Given the description of an element on the screen output the (x, y) to click on. 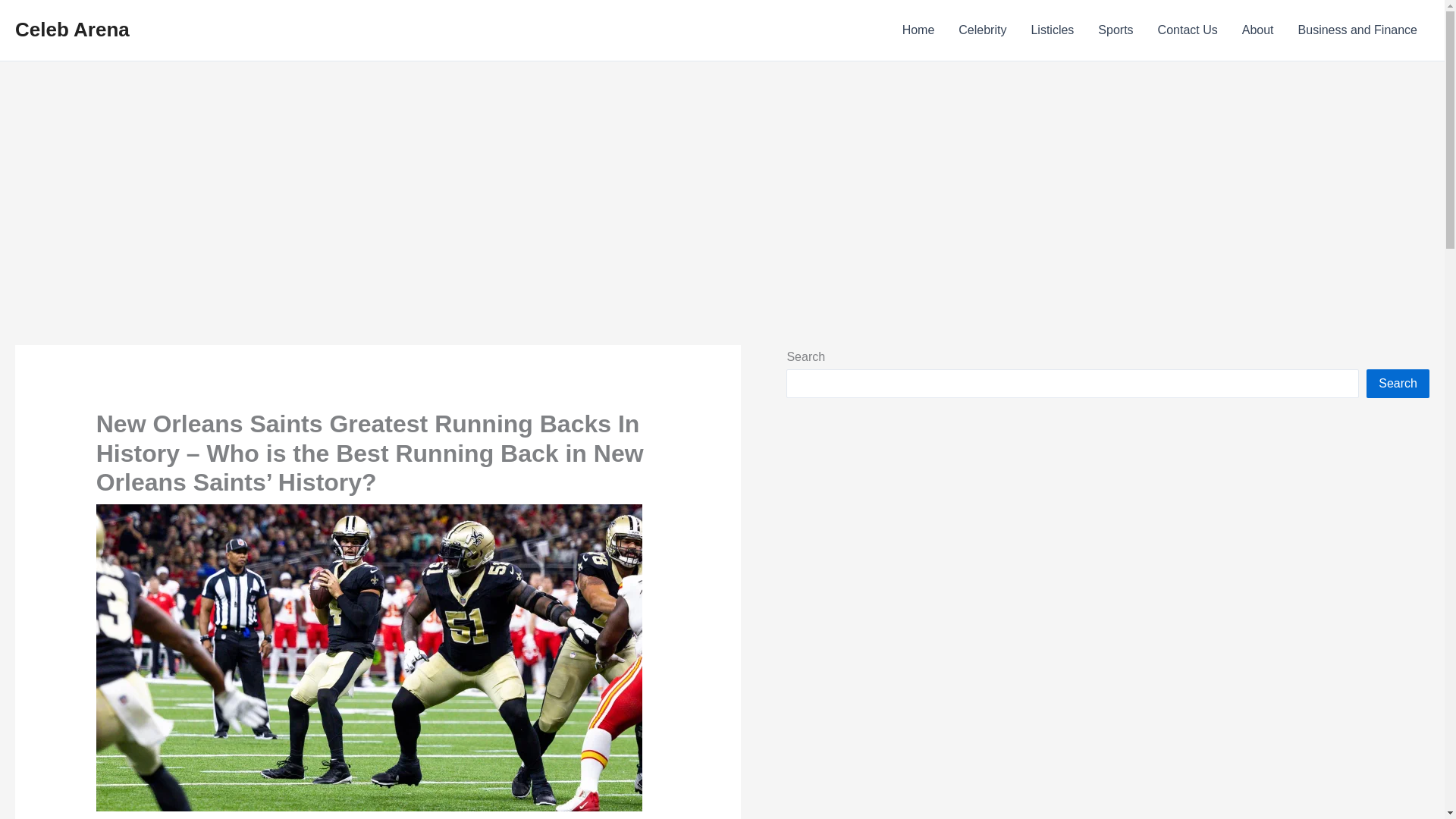
About (1257, 30)
Celebrity (981, 30)
Business and Finance (1357, 30)
Home (918, 30)
Sports (1115, 30)
Celeb Arena (71, 29)
Contact Us (1187, 30)
Listicles (1051, 30)
